Given the description of an element on the screen output the (x, y) to click on. 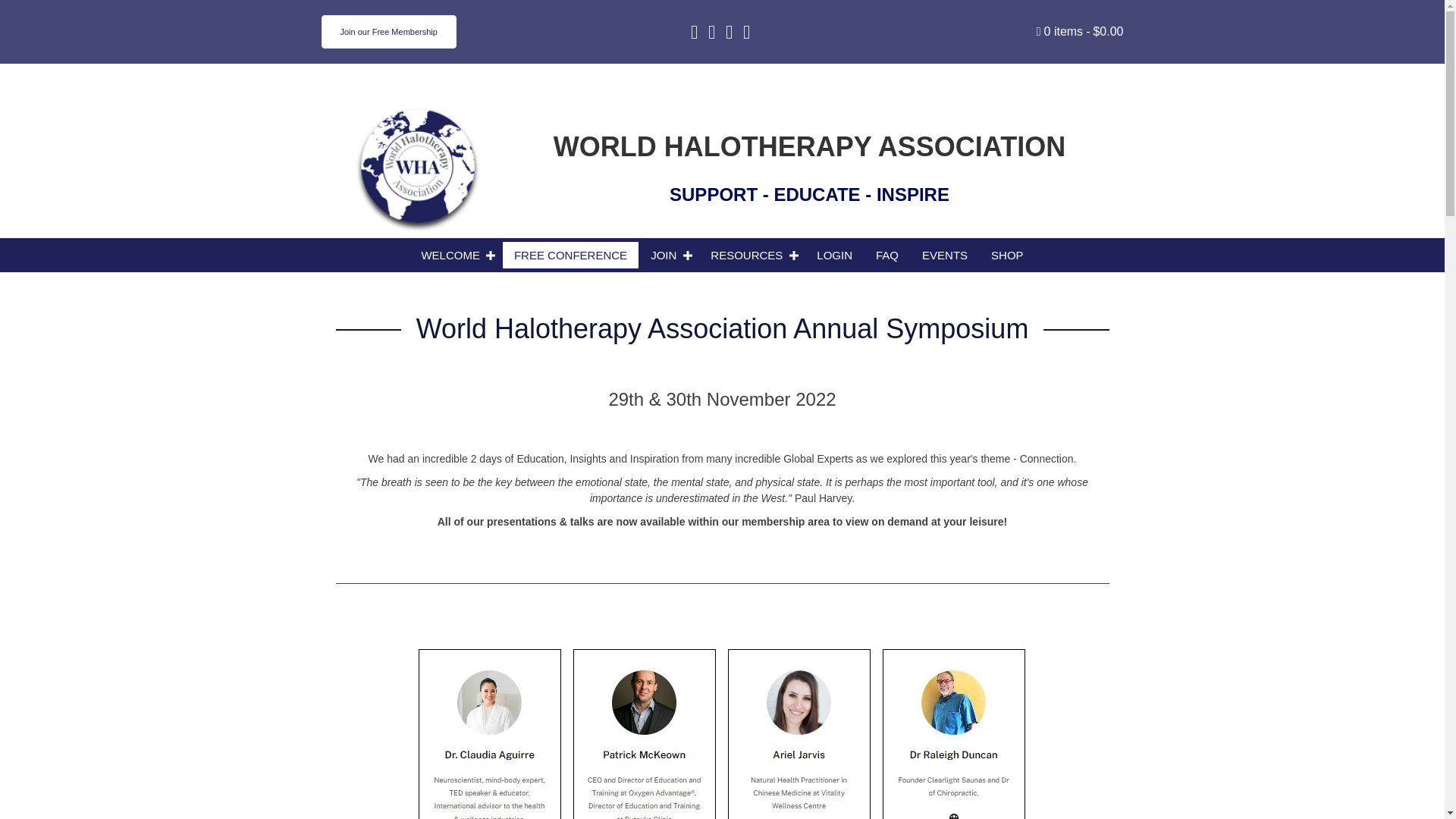
Screenshot 2022-10-21 163402 (721, 731)
SHOP (1007, 254)
JOIN (668, 254)
Start shopping (1080, 31)
Join our Free Membership (389, 31)
RESOURCES (751, 254)
WELCOME (455, 254)
FREE CONFERENCE (570, 254)
LOGIN (834, 254)
EVENTS (944, 254)
FAQ (887, 254)
